Given the description of an element on the screen output the (x, y) to click on. 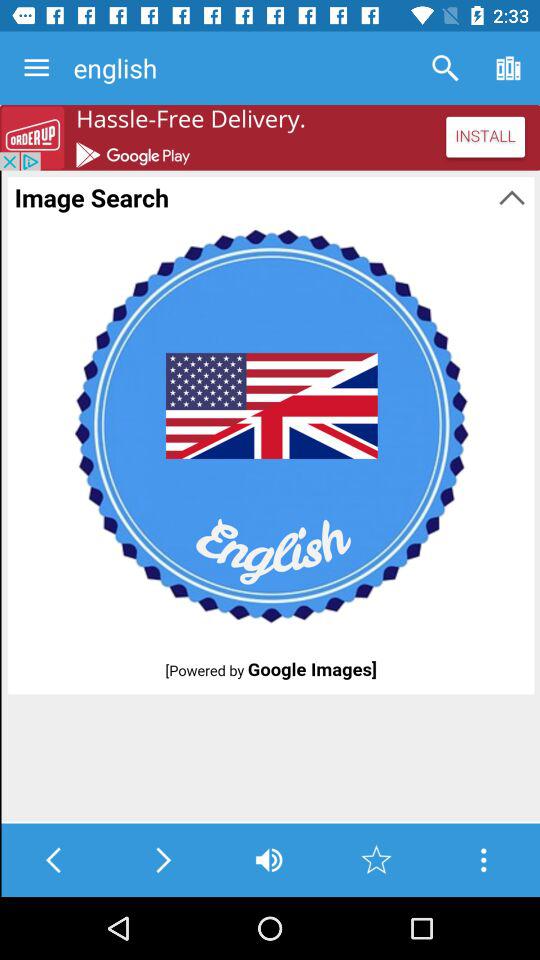
go to app in orderup (270, 137)
